Given the description of an element on the screen output the (x, y) to click on. 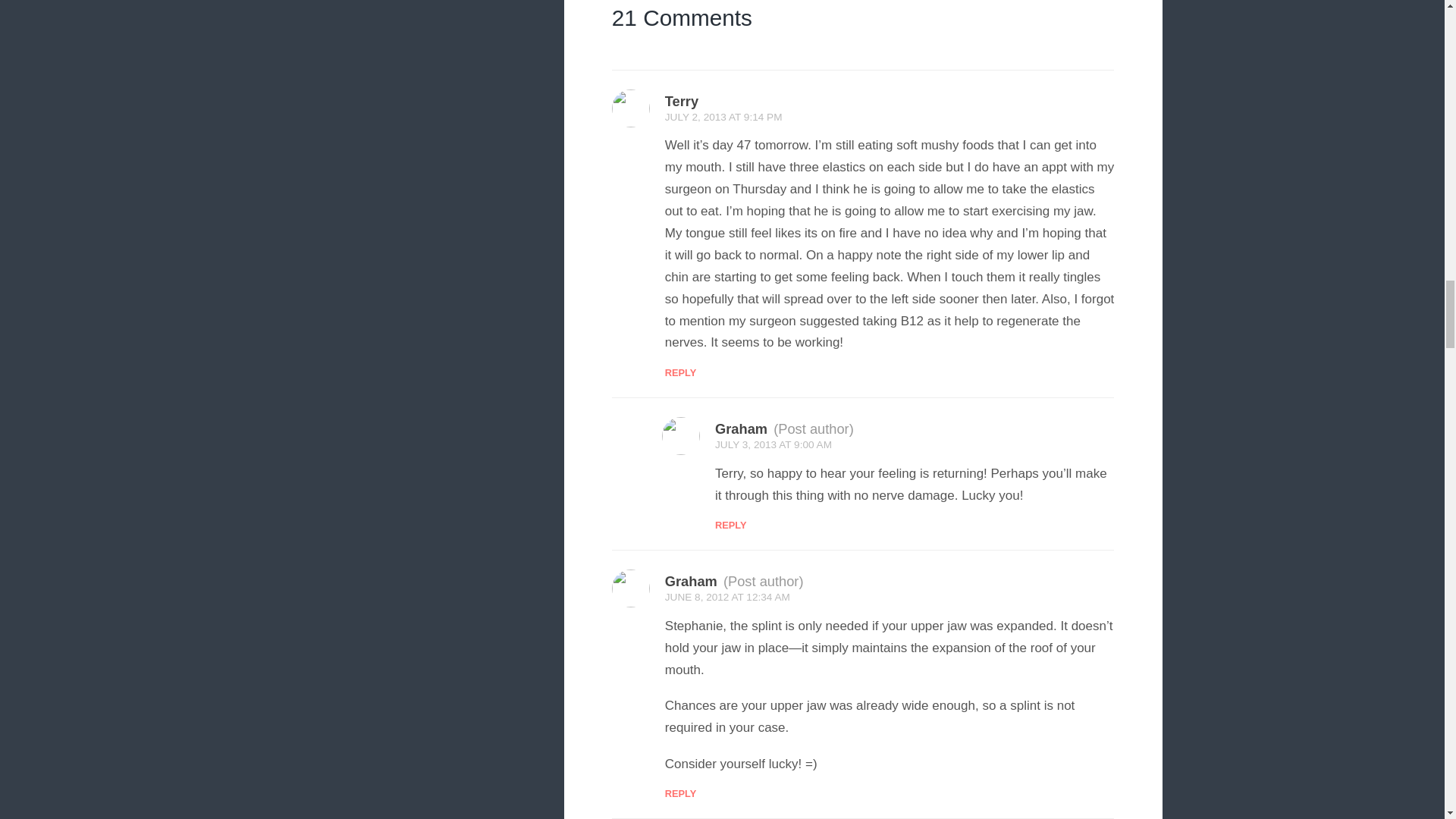
REPLY (681, 372)
Graham (740, 428)
JULY 2, 2013 AT 9:14 PM (724, 116)
REPLY (730, 524)
JULY 3, 2013 AT 9:00 AM (772, 444)
